Given the description of an element on the screen output the (x, y) to click on. 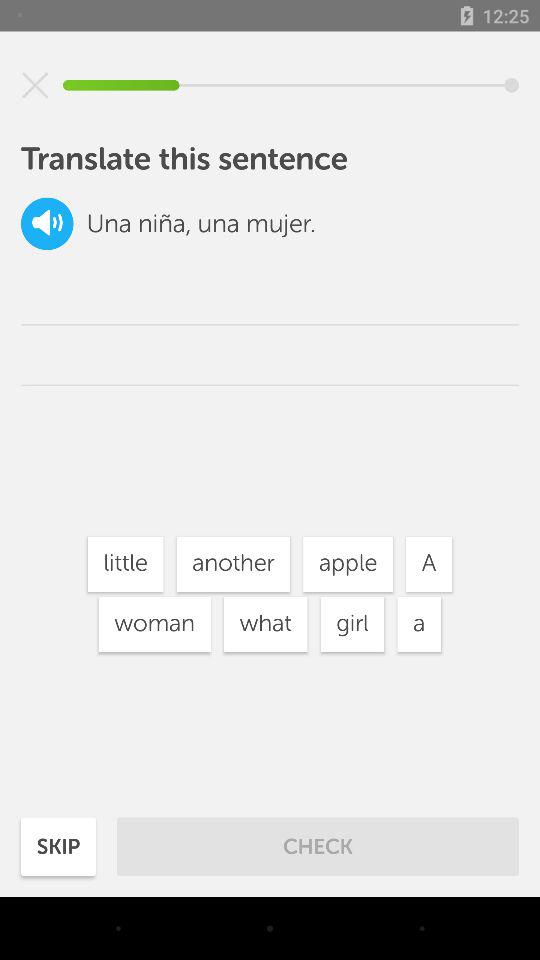
jump to the girl (352, 624)
